Given the description of an element on the screen output the (x, y) to click on. 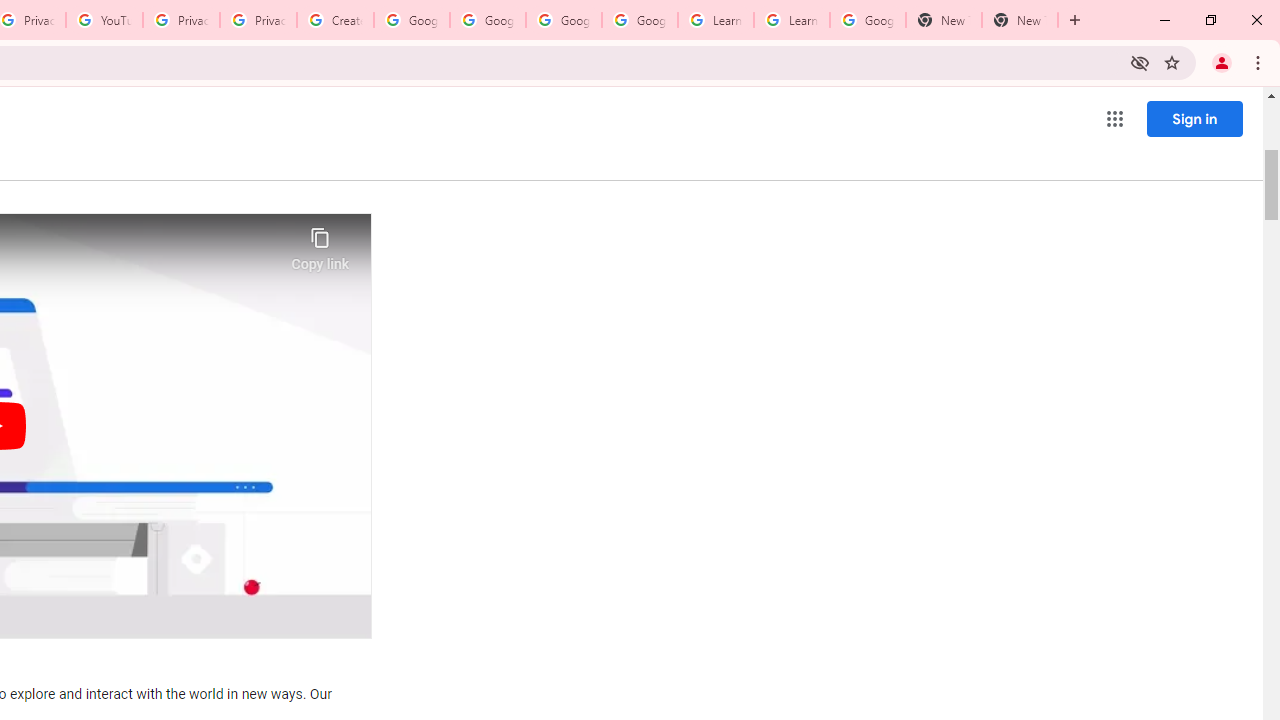
New Tab (1019, 20)
Google Account Help (639, 20)
Google Account Help (411, 20)
Google Account (867, 20)
YouTube (104, 20)
New Tab (943, 20)
Google Account Help (563, 20)
